Given the description of an element on the screen output the (x, y) to click on. 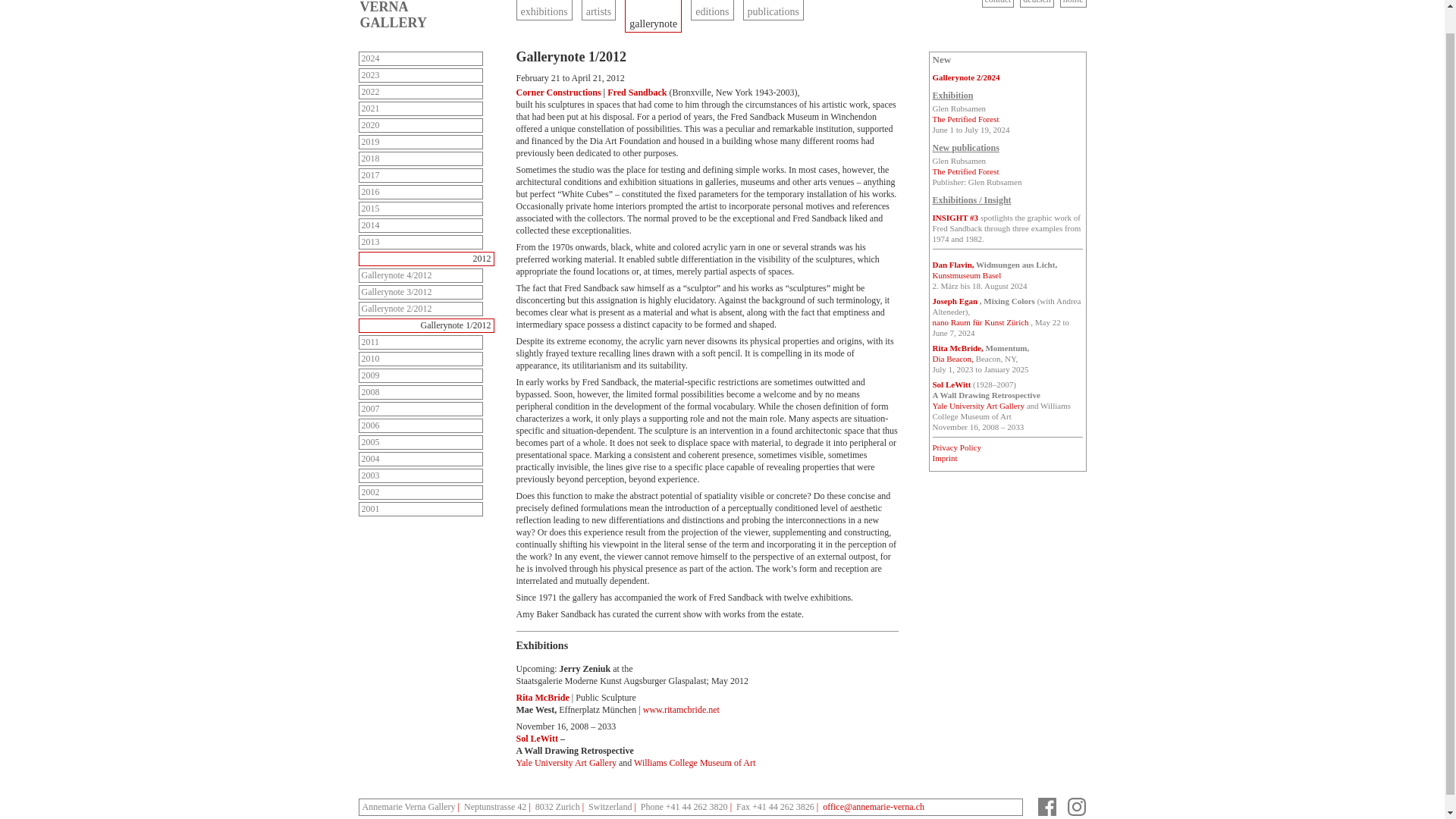
deutsch (1037, 3)
Fred Sandback (636, 91)
2018 (419, 158)
Williams College Museum of Art (694, 762)
Annemarie Verna Gallery - Dan Flavin (953, 264)
2007 (419, 409)
contact (997, 3)
2012 (425, 258)
2023 (419, 74)
home (1072, 3)
Rita McBride (542, 697)
2024 (419, 58)
2004 (419, 459)
2002 (419, 492)
2014 (419, 225)
